Given the description of an element on the screen output the (x, y) to click on. 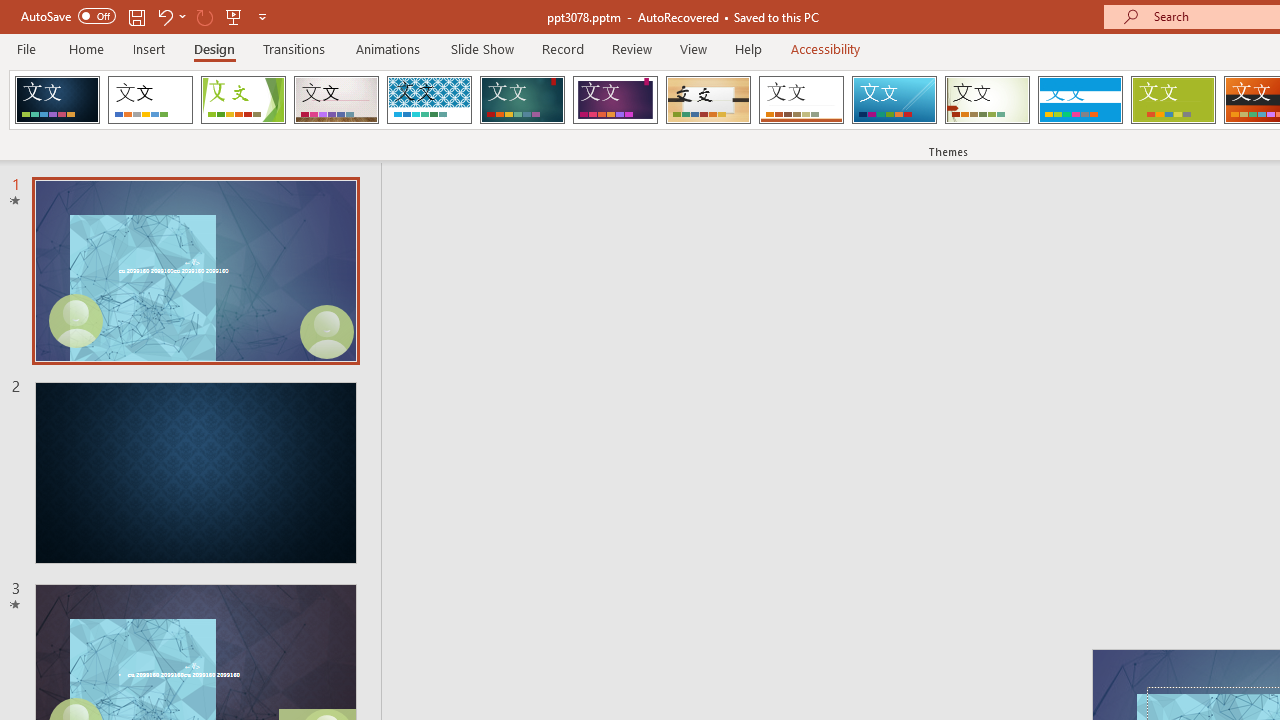
Facet (243, 100)
Ion (522, 100)
Dividend (57, 100)
Slice (893, 100)
Gallery (336, 100)
